Given the description of an element on the screen output the (x, y) to click on. 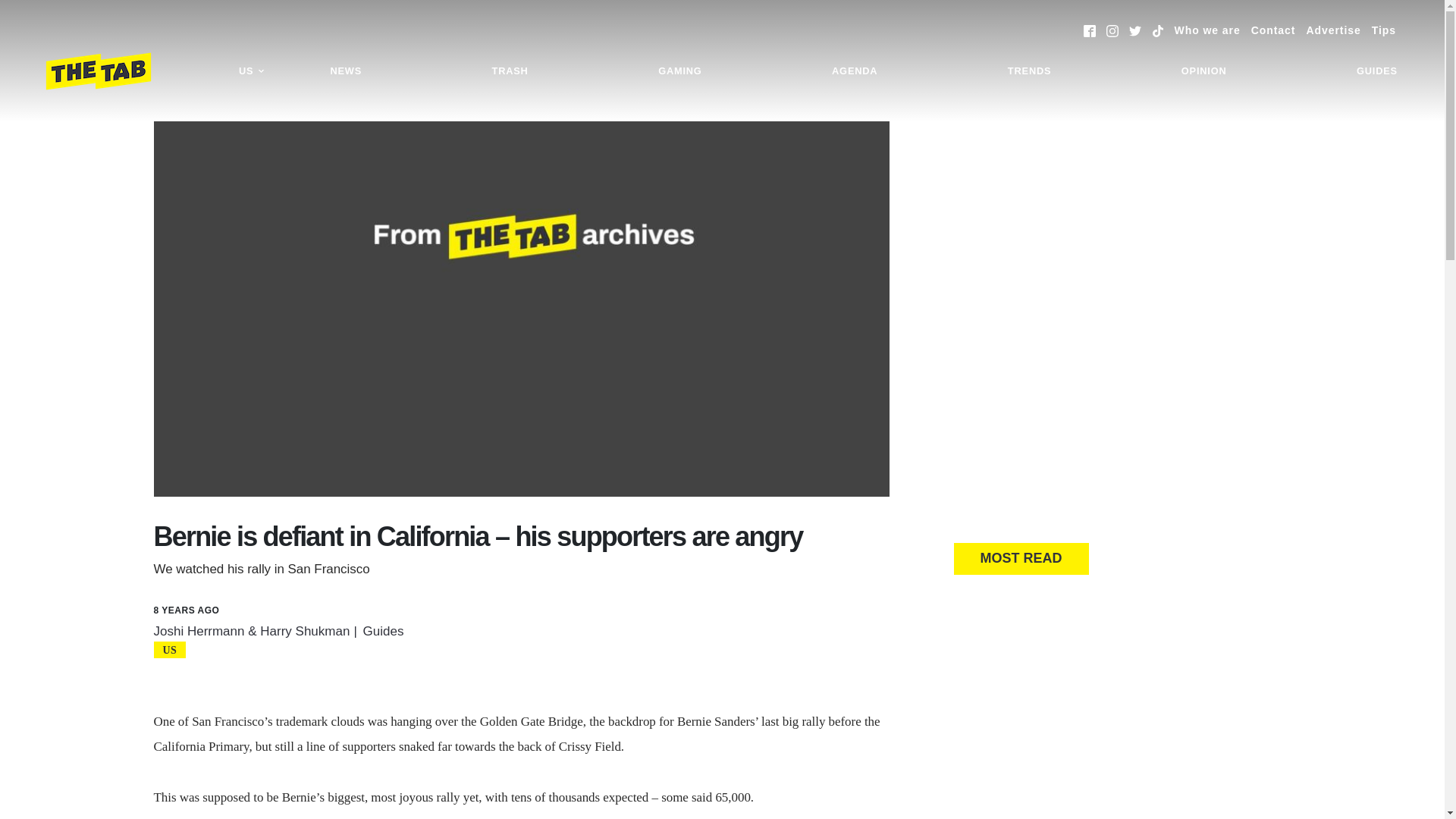
Who we are (1207, 29)
GAMING (679, 71)
Advertise (1332, 29)
Tips (1383, 29)
AGENDA (854, 71)
GUIDES (1377, 71)
TRENDS (1028, 71)
US (251, 71)
Contact (1272, 29)
TRASH (510, 71)
NEWS (345, 71)
OPINION (1204, 71)
